Given the description of an element on the screen output the (x, y) to click on. 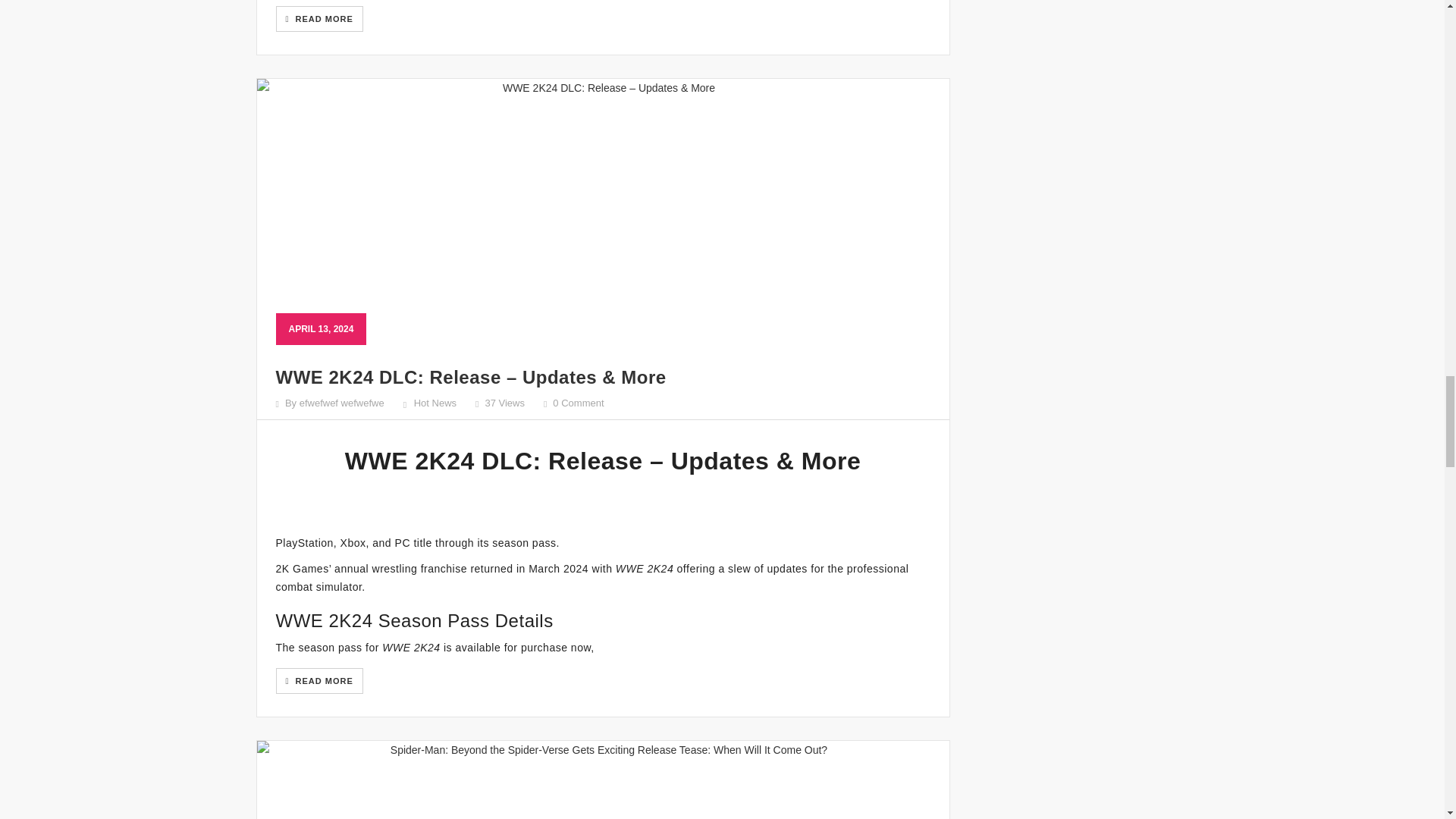
Hot News (435, 402)
READ MORE (319, 18)
READ MORE (319, 680)
0 Comment (578, 402)
